Given the description of an element on the screen output the (x, y) to click on. 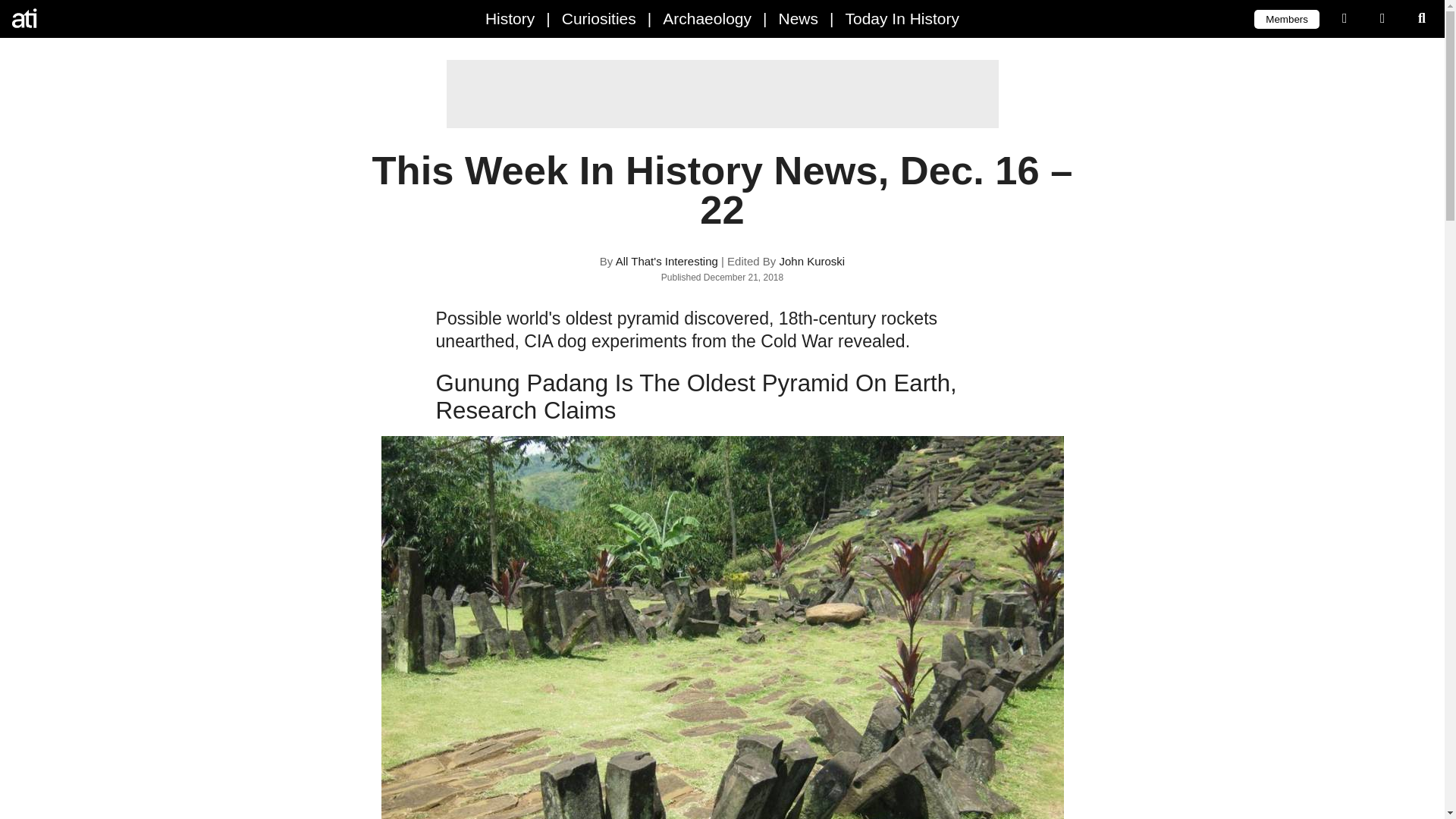
Today In History (901, 18)
All That's Interesting (666, 260)
History (510, 18)
John Kuroski (811, 260)
Members (1286, 18)
News (798, 18)
Curiosities (598, 18)
Archaeology (706, 18)
All That's Interesting (75, 18)
